Given the description of an element on the screen output the (x, y) to click on. 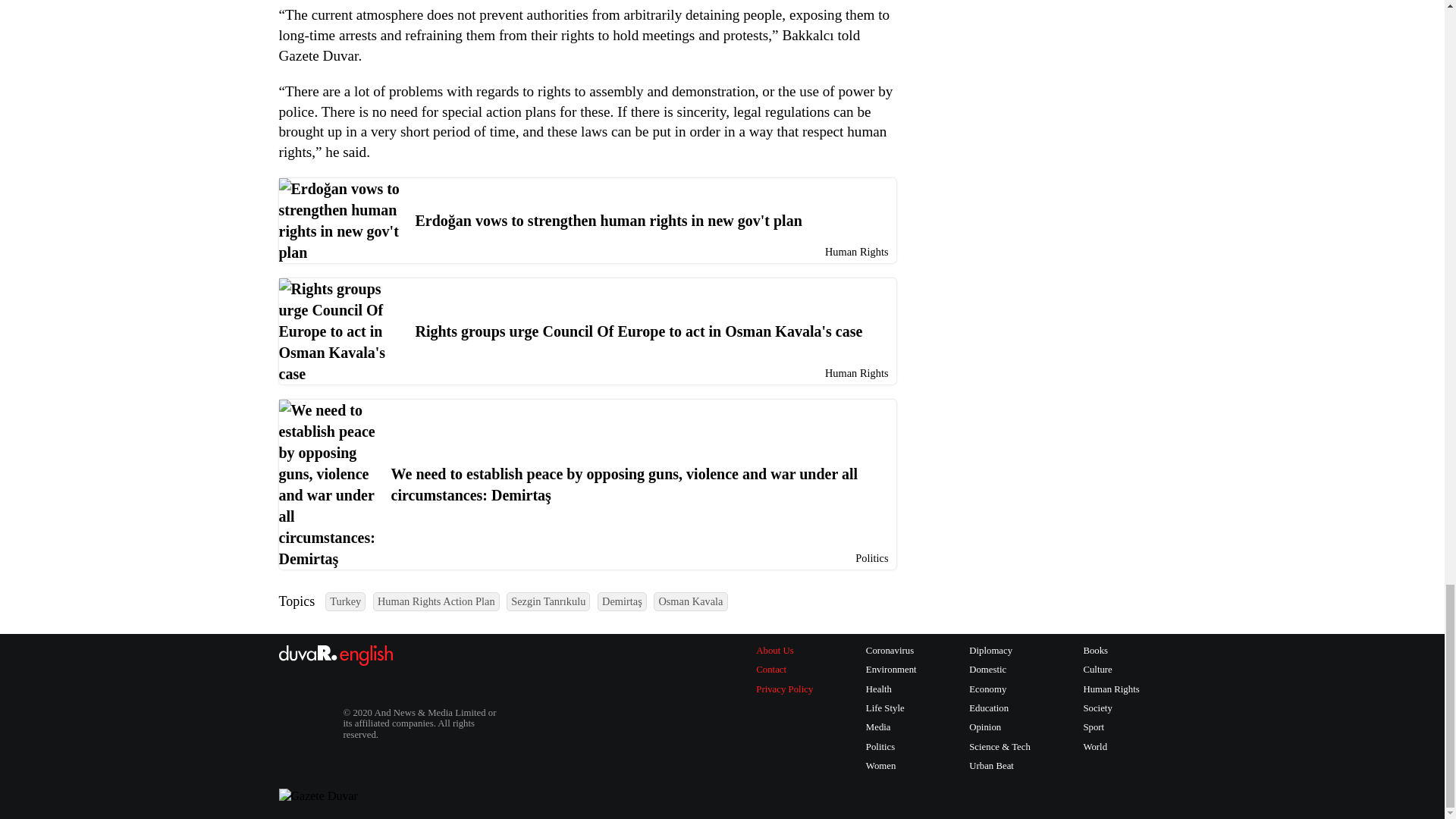
Turkey (344, 601)
Turkey (344, 601)
Osman Kavala (689, 601)
Human Rights Action Plan (435, 601)
Human Rights Action Plan (435, 601)
